Given the description of an element on the screen output the (x, y) to click on. 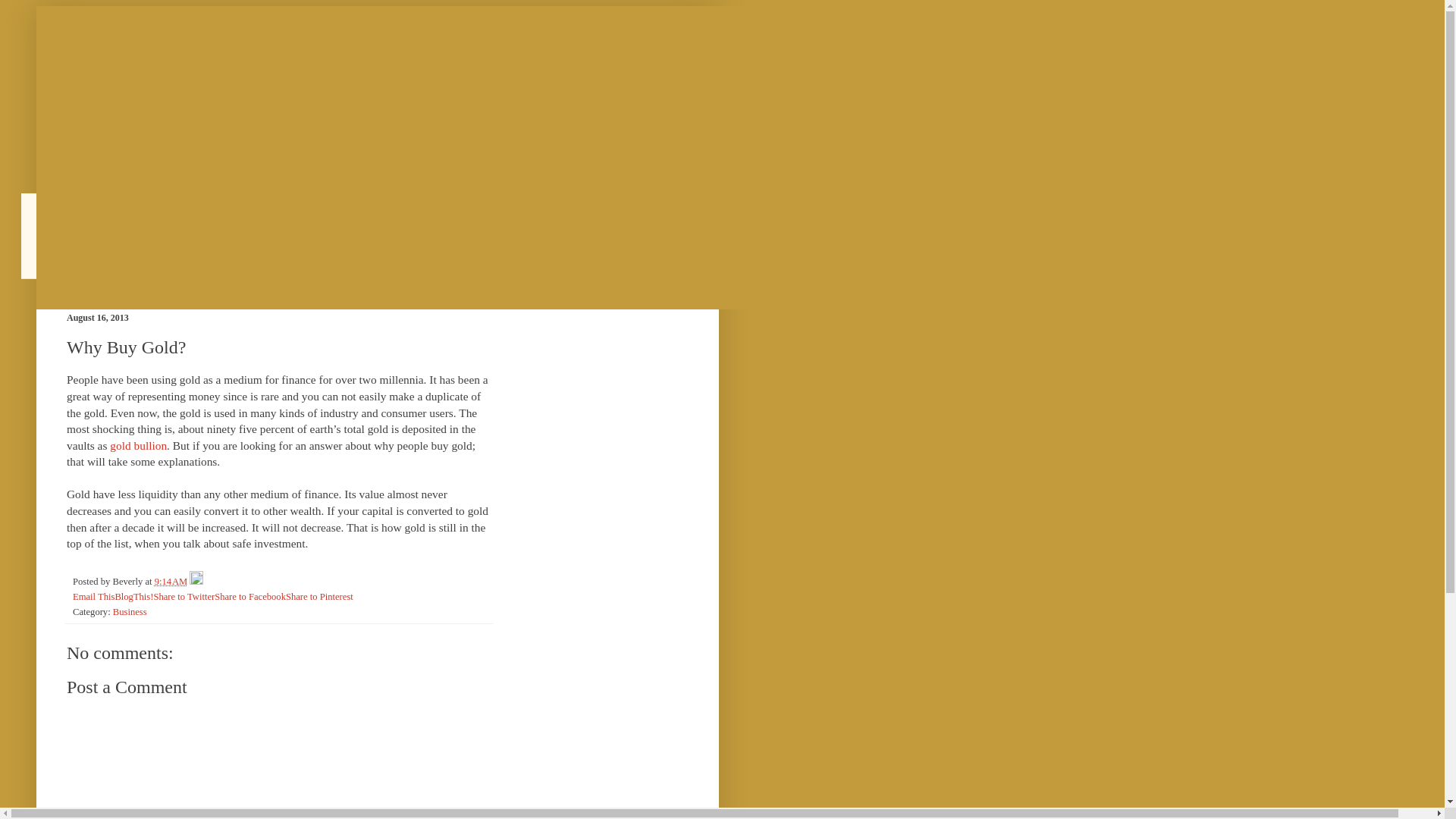
Business (130, 611)
permanent link (170, 581)
Share to Pinterest (319, 596)
Email This (93, 596)
Share to Pinterest (319, 596)
BlogThis! (133, 596)
gold bullion (138, 445)
Blogs I Follow (99, 235)
Share to Twitter (183, 596)
